Given the description of an element on the screen output the (x, y) to click on. 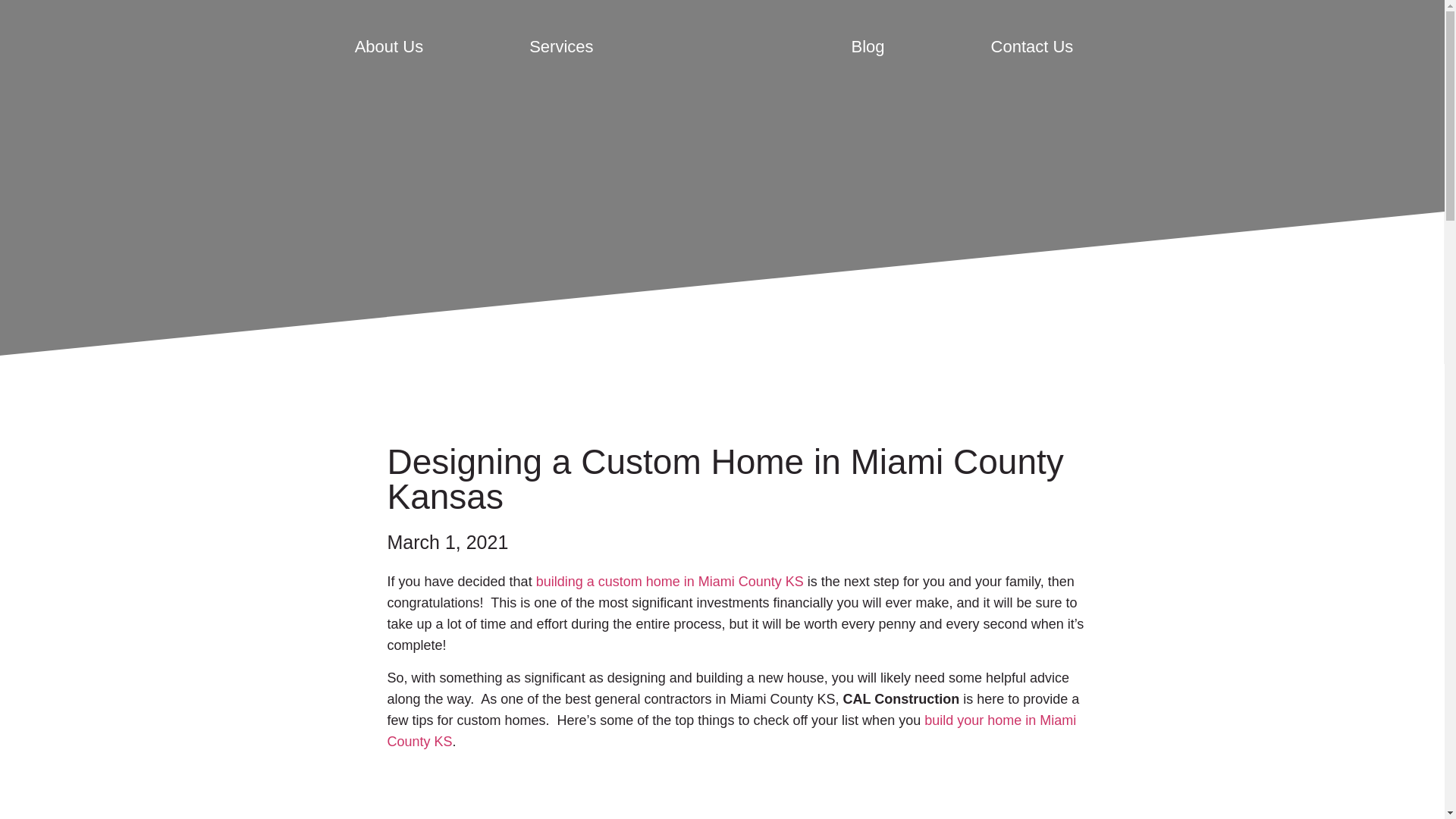
building a custom home in Miami County KS (669, 581)
Contact Us (1031, 47)
build your home in Miami County KS (731, 730)
Blog (867, 47)
About Us (389, 47)
Services (561, 47)
